Given the description of an element on the screen output the (x, y) to click on. 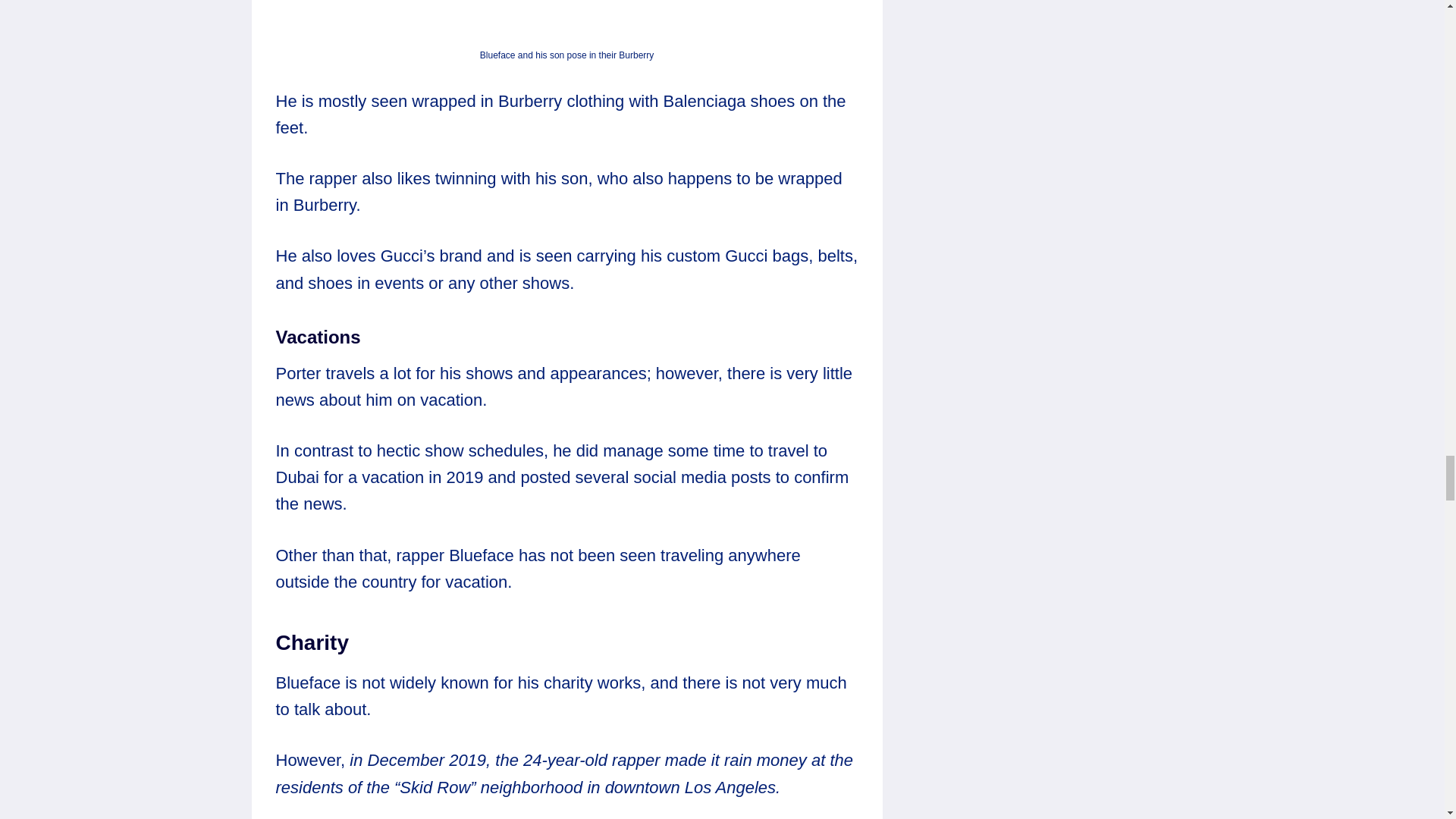
blueface-and-his-son-pose (566, 20)
